Given the description of an element on the screen output the (x, y) to click on. 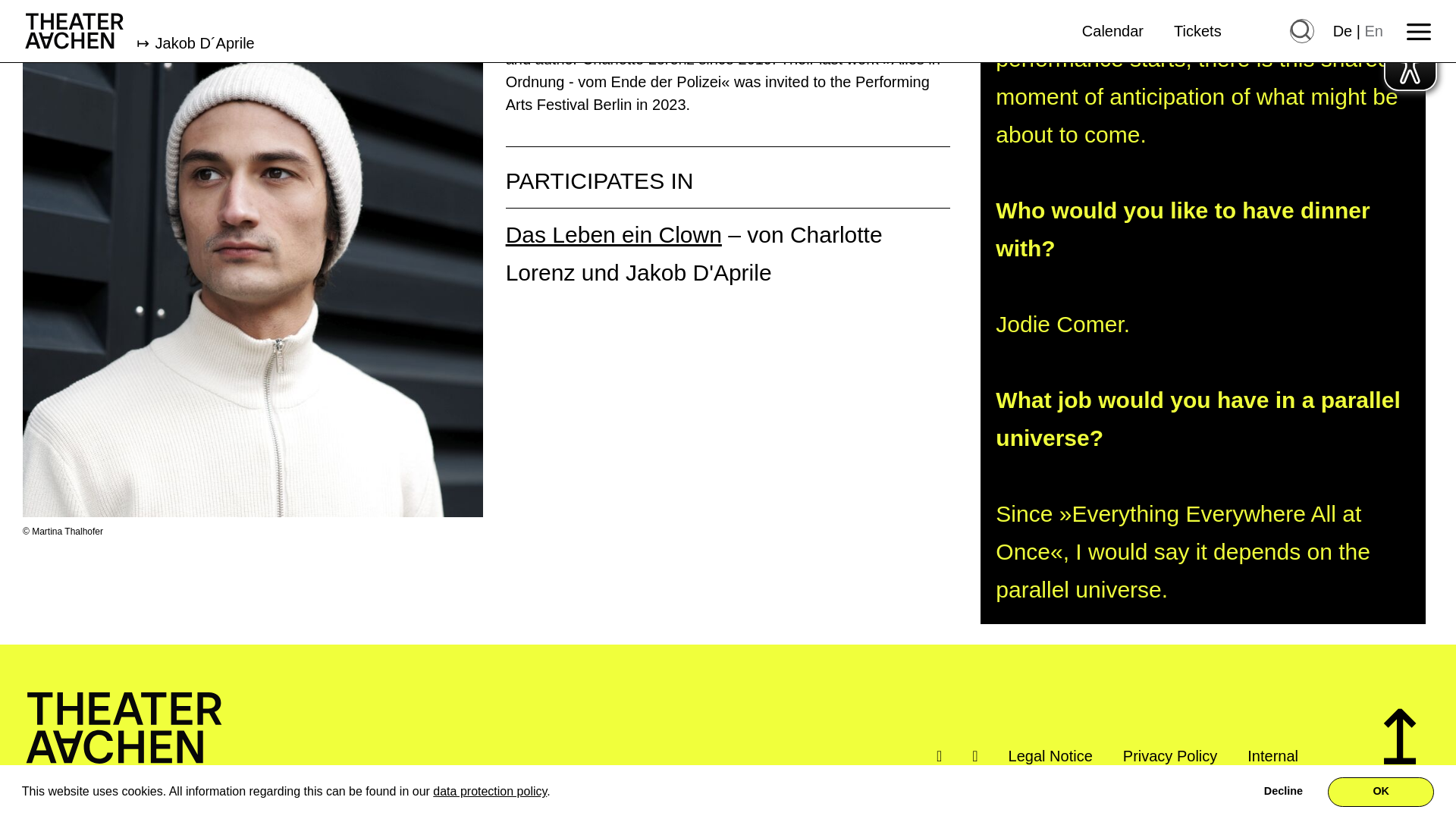
OK (1380, 624)
data protection policy (489, 624)
Decline (1283, 624)
